Given the description of an element on the screen output the (x, y) to click on. 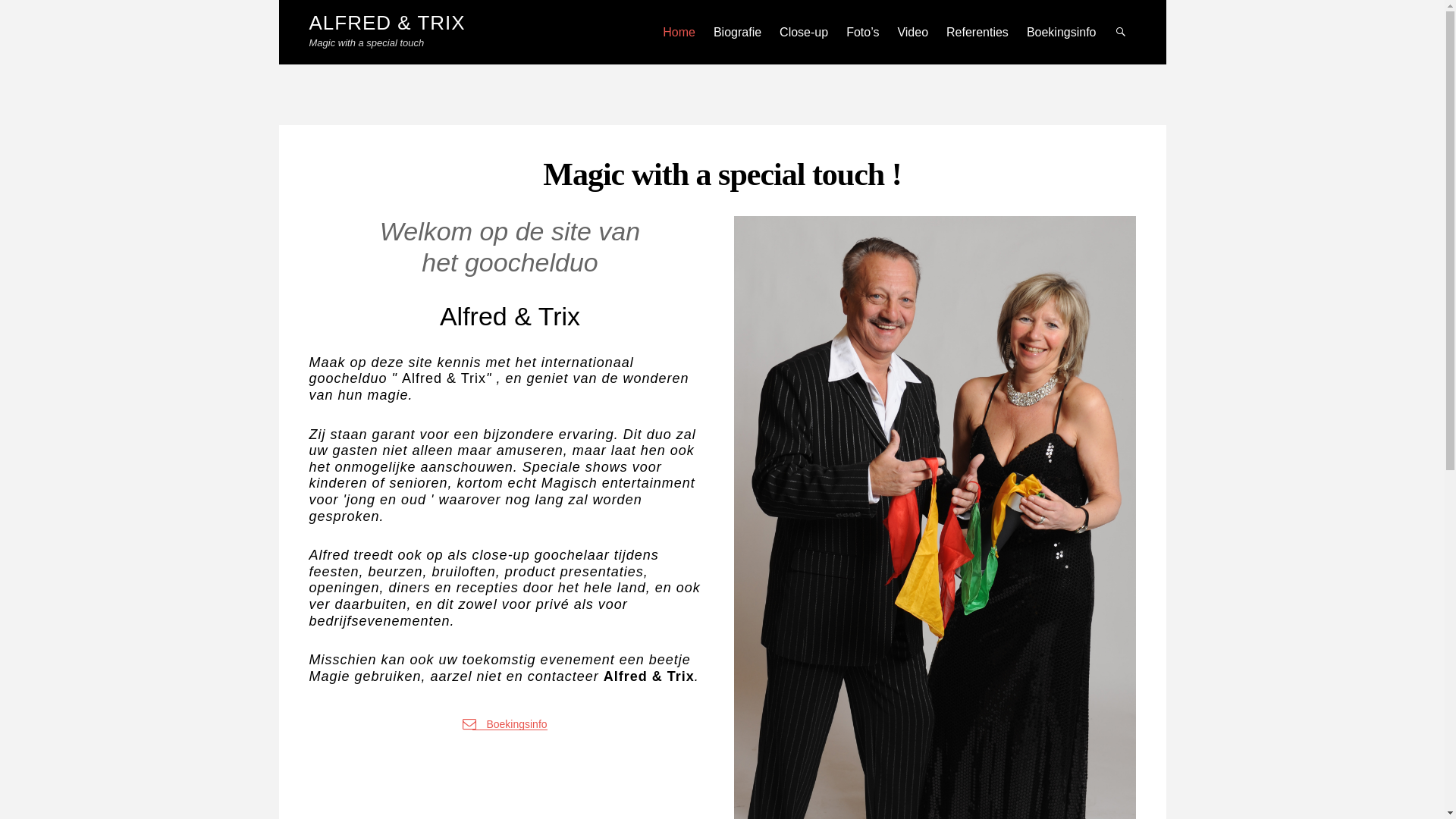
ALFRED & TRIX Element type: text (387, 22)
Boekingsinfo Element type: text (509, 723)
Home Element type: text (678, 32)
Biografie Element type: text (737, 32)
Search Element type: text (1122, 70)
Close-up Element type: text (803, 32)
Boekingsinfo Element type: text (1061, 32)
Video Element type: text (912, 32)
Referenties Element type: text (977, 32)
